Given the description of an element on the screen output the (x, y) to click on. 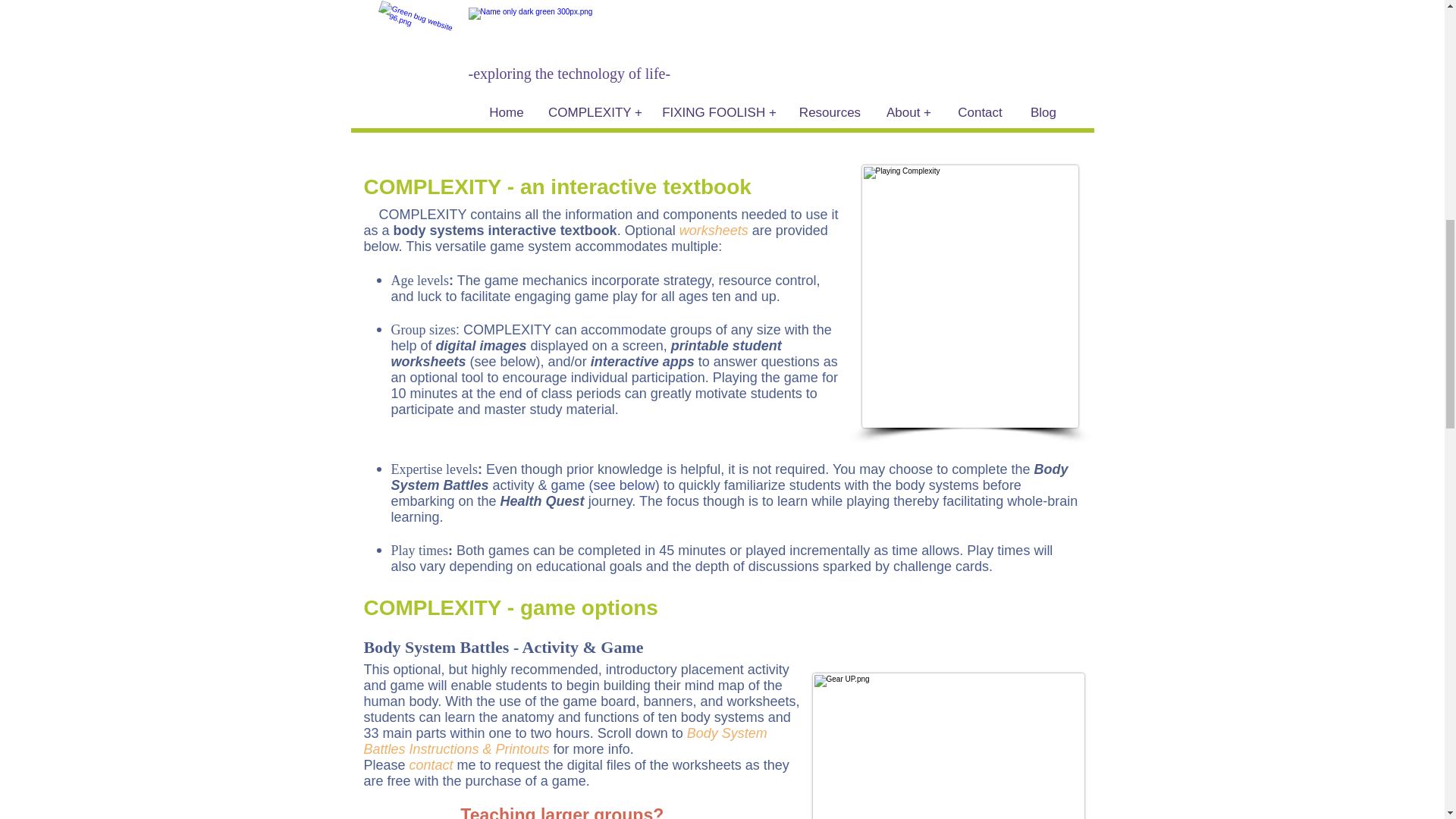
contact (430, 765)
interactive apps (642, 361)
worksheets (713, 230)
